Given the description of an element on the screen output the (x, y) to click on. 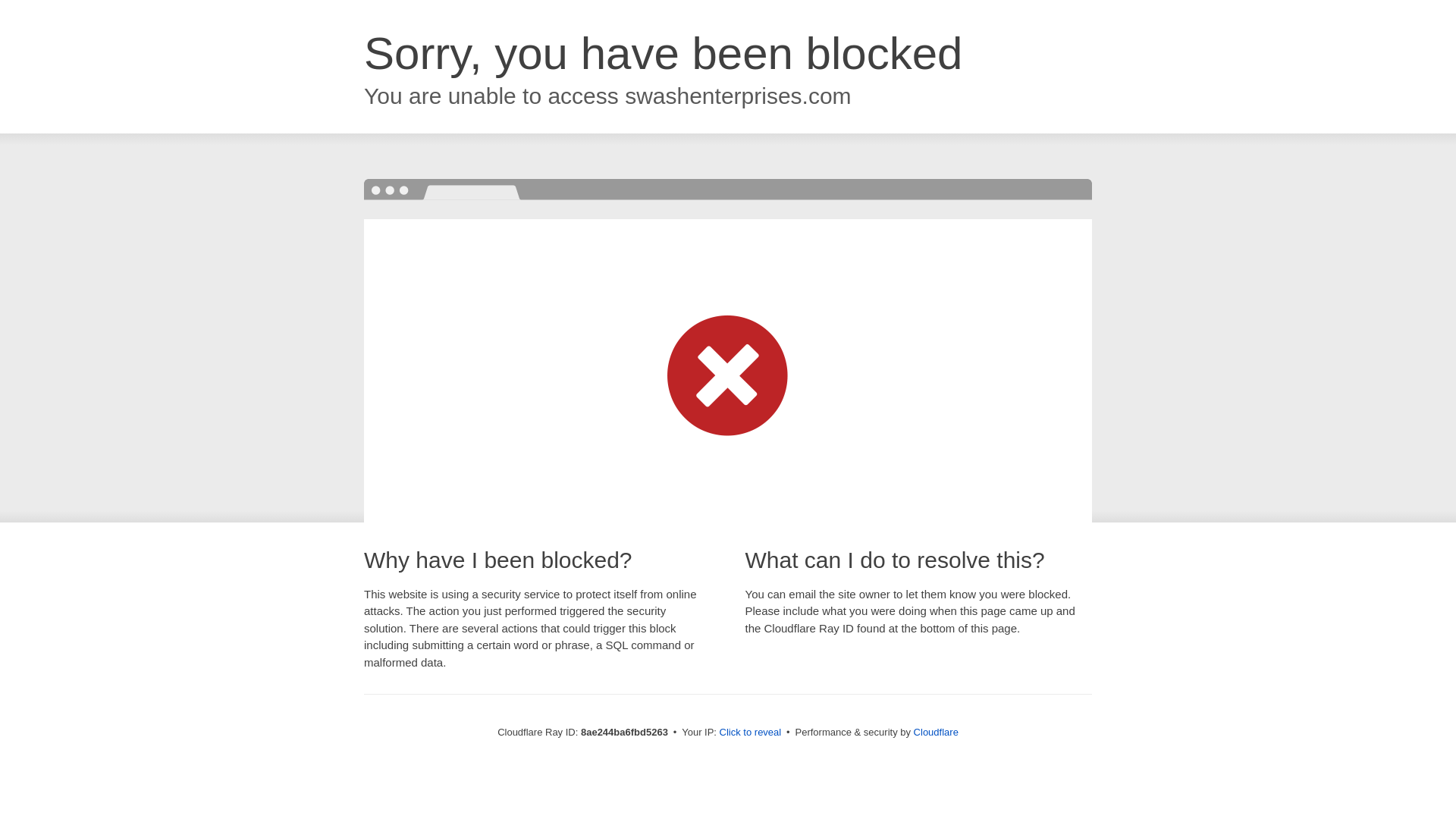
Cloudflare (936, 731)
Click to reveal (750, 732)
